Given the description of an element on the screen output the (x, y) to click on. 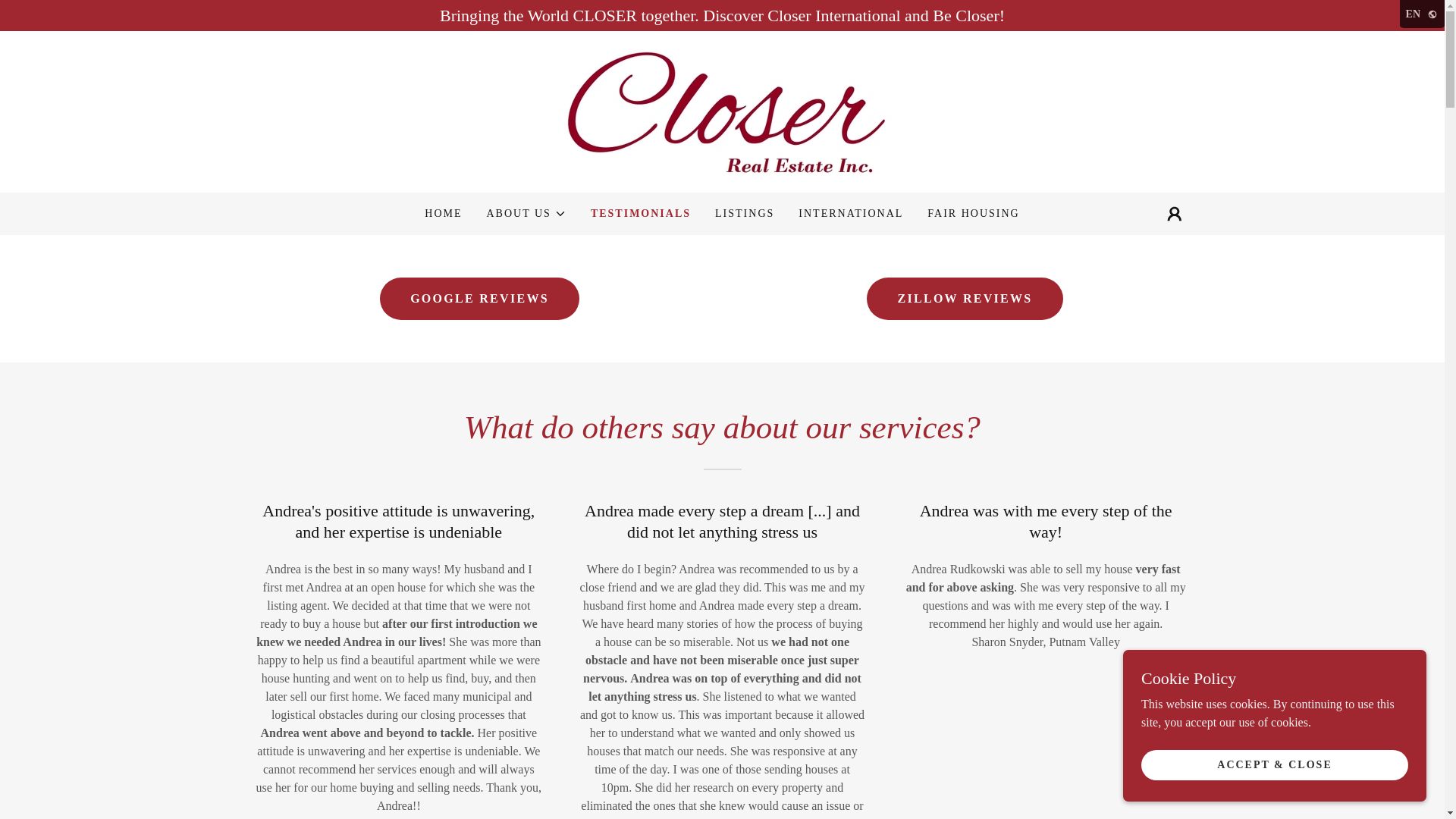
LISTINGS (744, 213)
ABOUT US (526, 213)
FAIR HOUSING (973, 213)
TESTIMONIALS (640, 213)
HOME (442, 213)
CLOSER (722, 110)
INTERNATIONAL (850, 213)
